Given the description of an element on the screen output the (x, y) to click on. 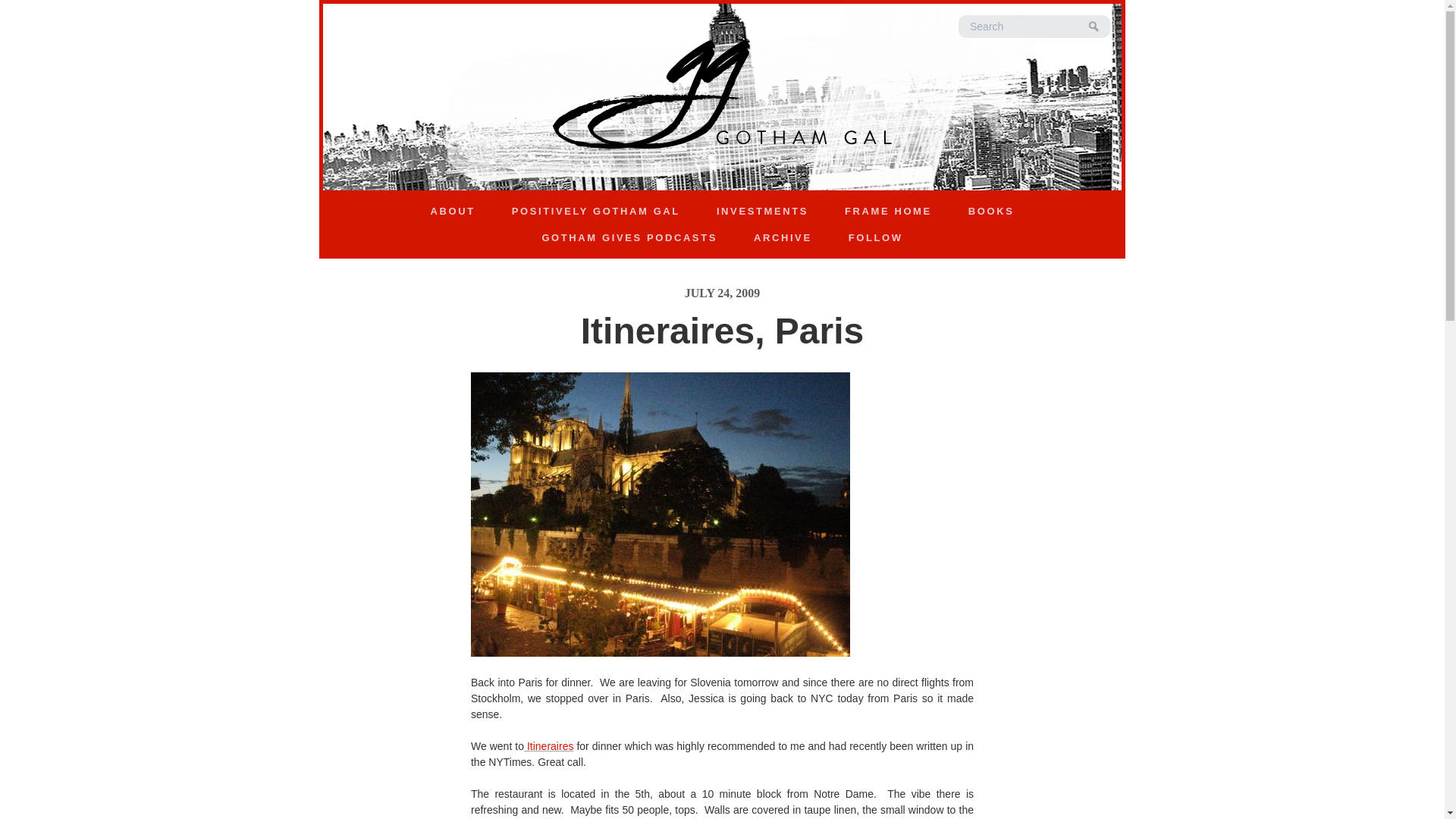
Follow (875, 237)
Positively Gotham Gal (596, 210)
BOOKS (990, 210)
Books (990, 210)
FOLLOW (875, 237)
Archive (782, 237)
Gotham Gives Podcasts (628, 237)
INVESTMENTS (762, 210)
Itineraires (548, 746)
ABOUT (452, 210)
About (452, 210)
POSITIVELY GOTHAM GAL (596, 210)
Investments (762, 210)
GOTHAM GIVES PODCASTS (628, 237)
ARCHIVE (782, 237)
